Given the description of an element on the screen output the (x, y) to click on. 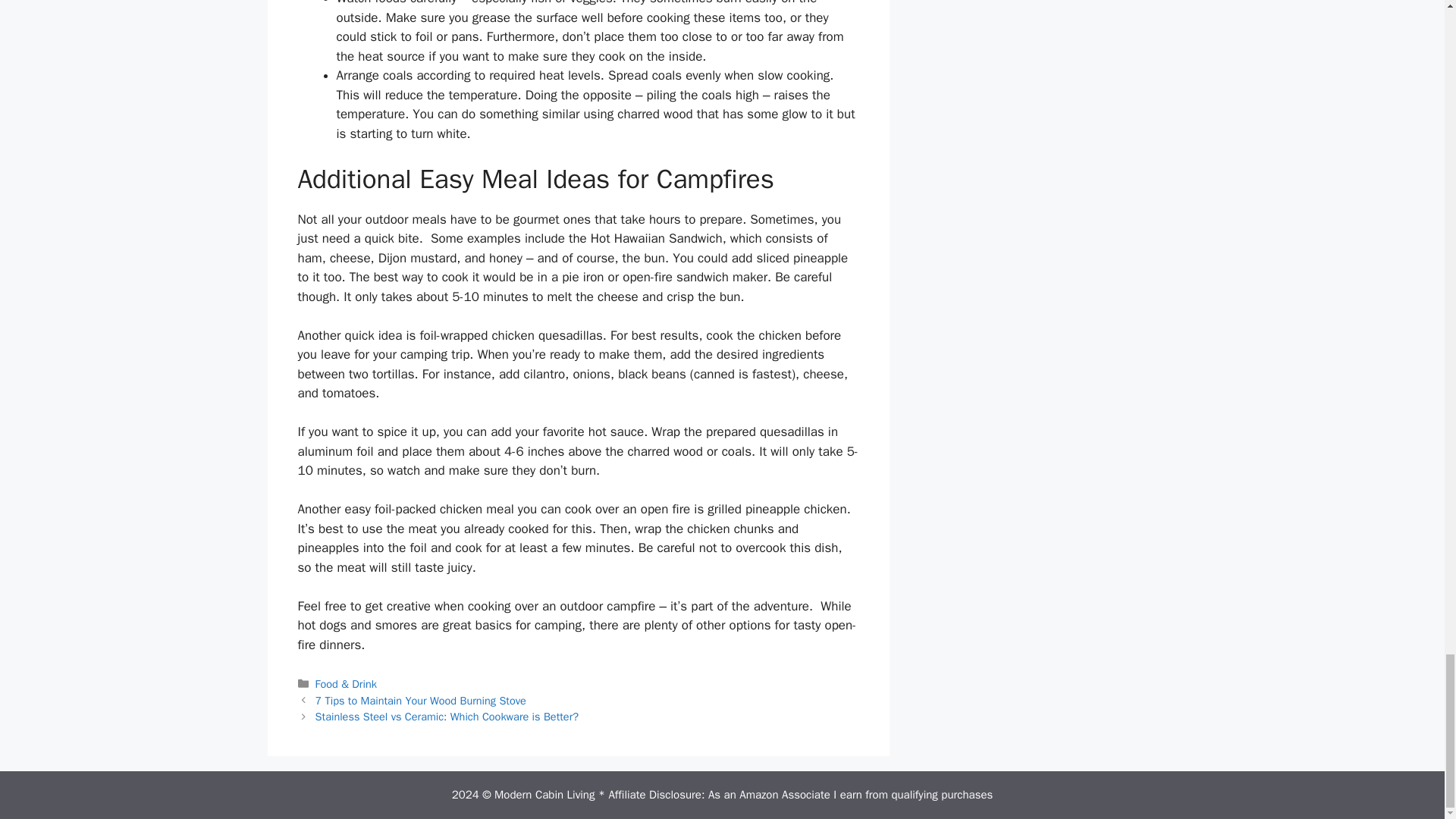
7 Tips to Maintain Your Wood Burning Stove (420, 700)
Stainless Steel vs Ceramic: Which Cookware is Better? (446, 716)
